Given the description of an element on the screen output the (x, y) to click on. 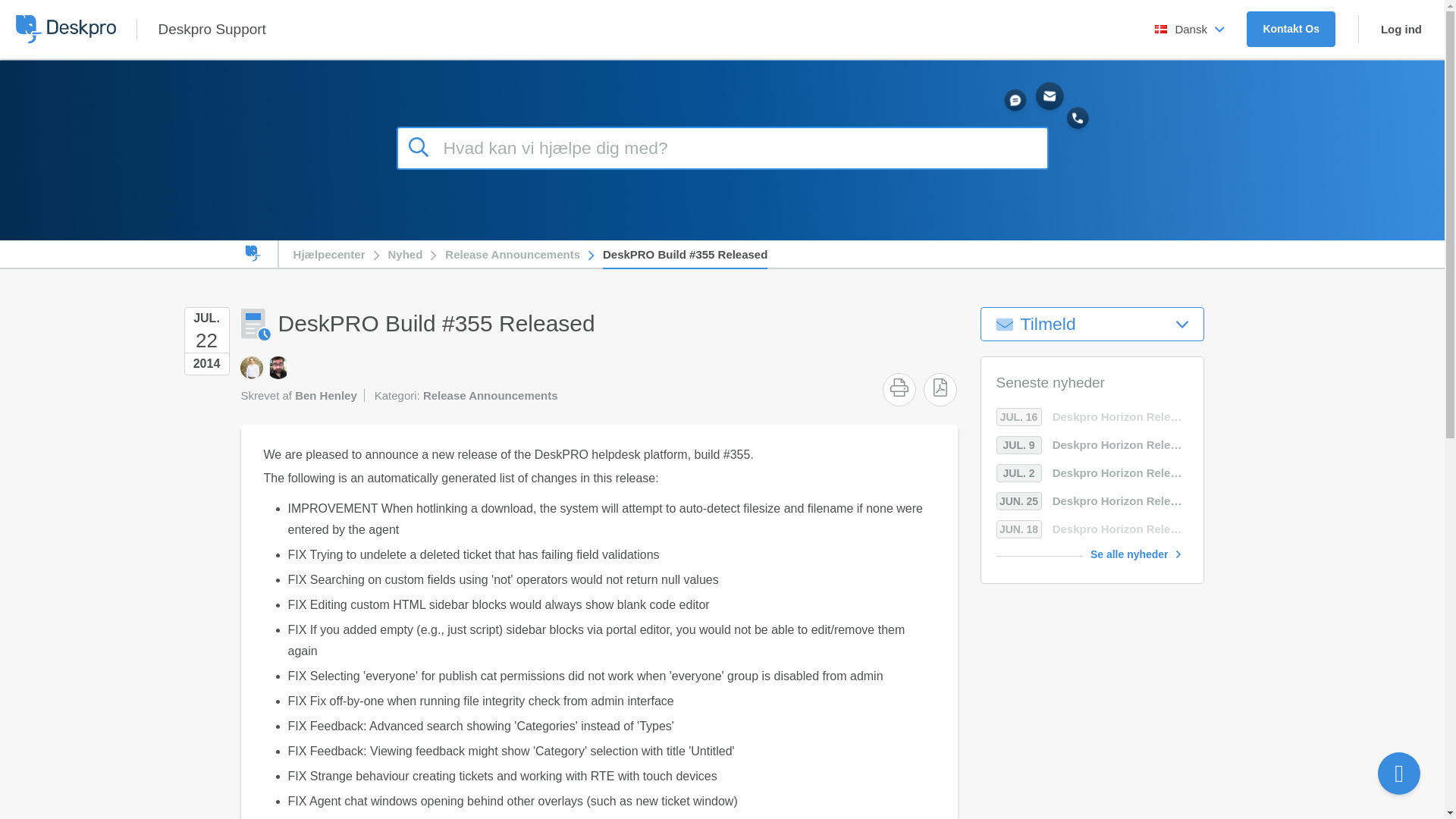
Chris Padfield (250, 367)
Udskriv (898, 387)
Udskriv (898, 387)
Dansk (1189, 29)
Ben Henley (277, 367)
Deskpro Support (210, 29)
